Given the description of an element on the screen output the (x, y) to click on. 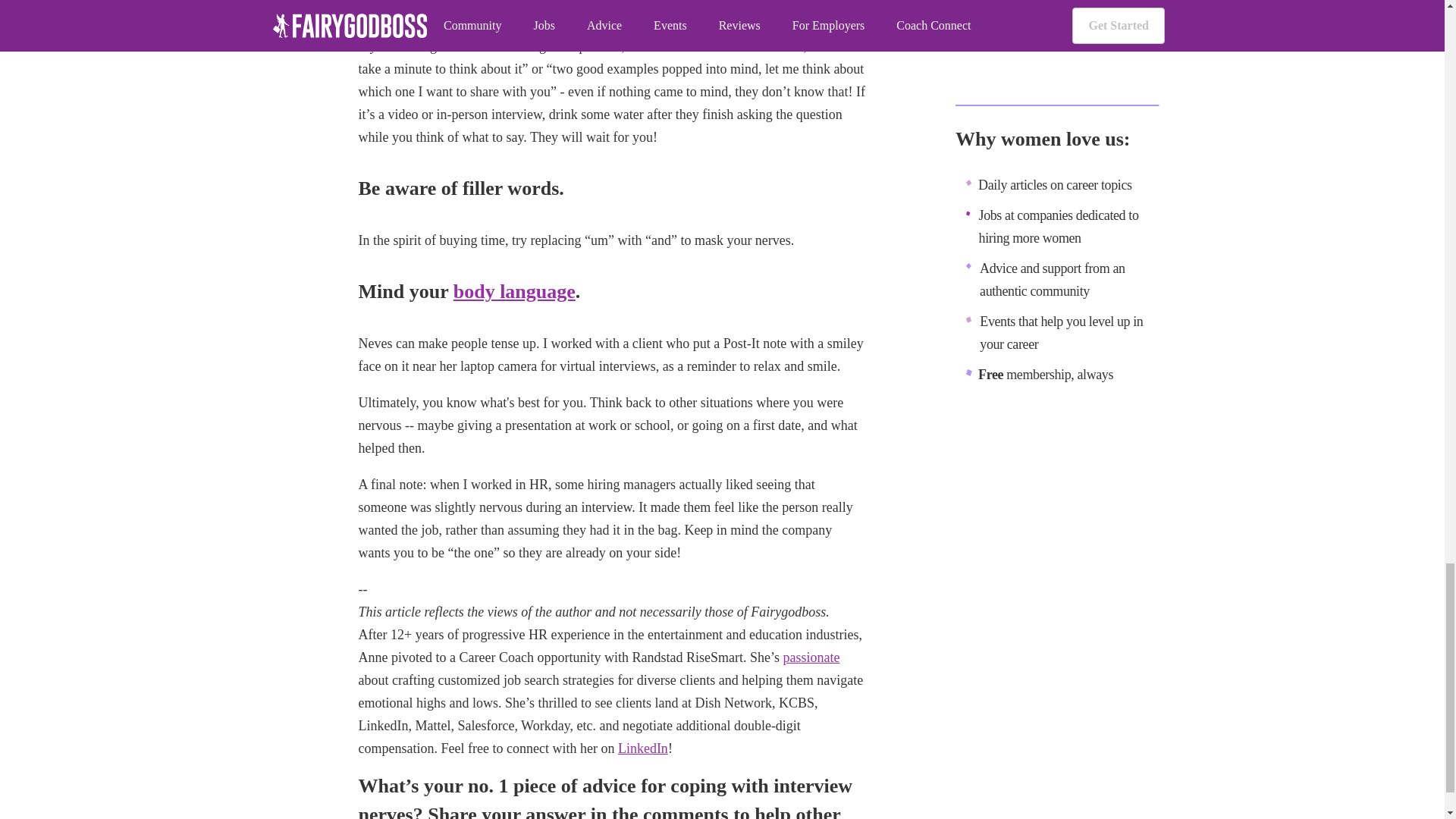
passionate (811, 657)
LinkedIn (642, 748)
body language (513, 291)
